Given the description of an element on the screen output the (x, y) to click on. 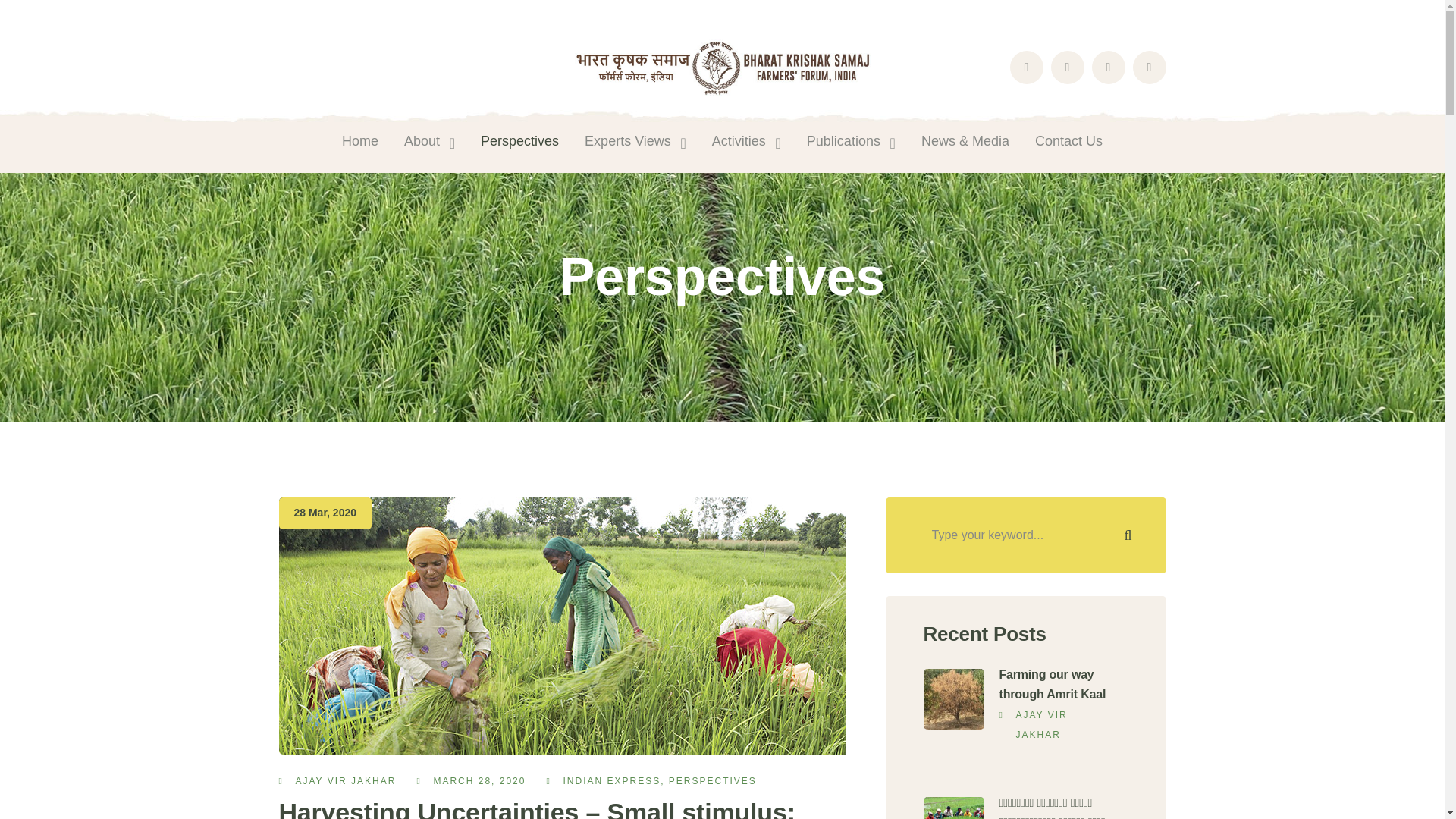
Twitter Profile (1067, 67)
Bharat Krishak Samaj (722, 65)
Publications (850, 140)
Perspectives (519, 140)
Youtube Profile (1149, 67)
AJAY VIR JAKHAR (345, 780)
PERSPECTIVES (712, 780)
Instagram (1108, 67)
INDIAN EXPRESS (611, 780)
Facebook (1026, 67)
Youtube (1149, 67)
Facebook Profile (1026, 67)
Experts Views (635, 140)
Activities (745, 140)
Contact Us (1068, 140)
